Given the description of an element on the screen output the (x, y) to click on. 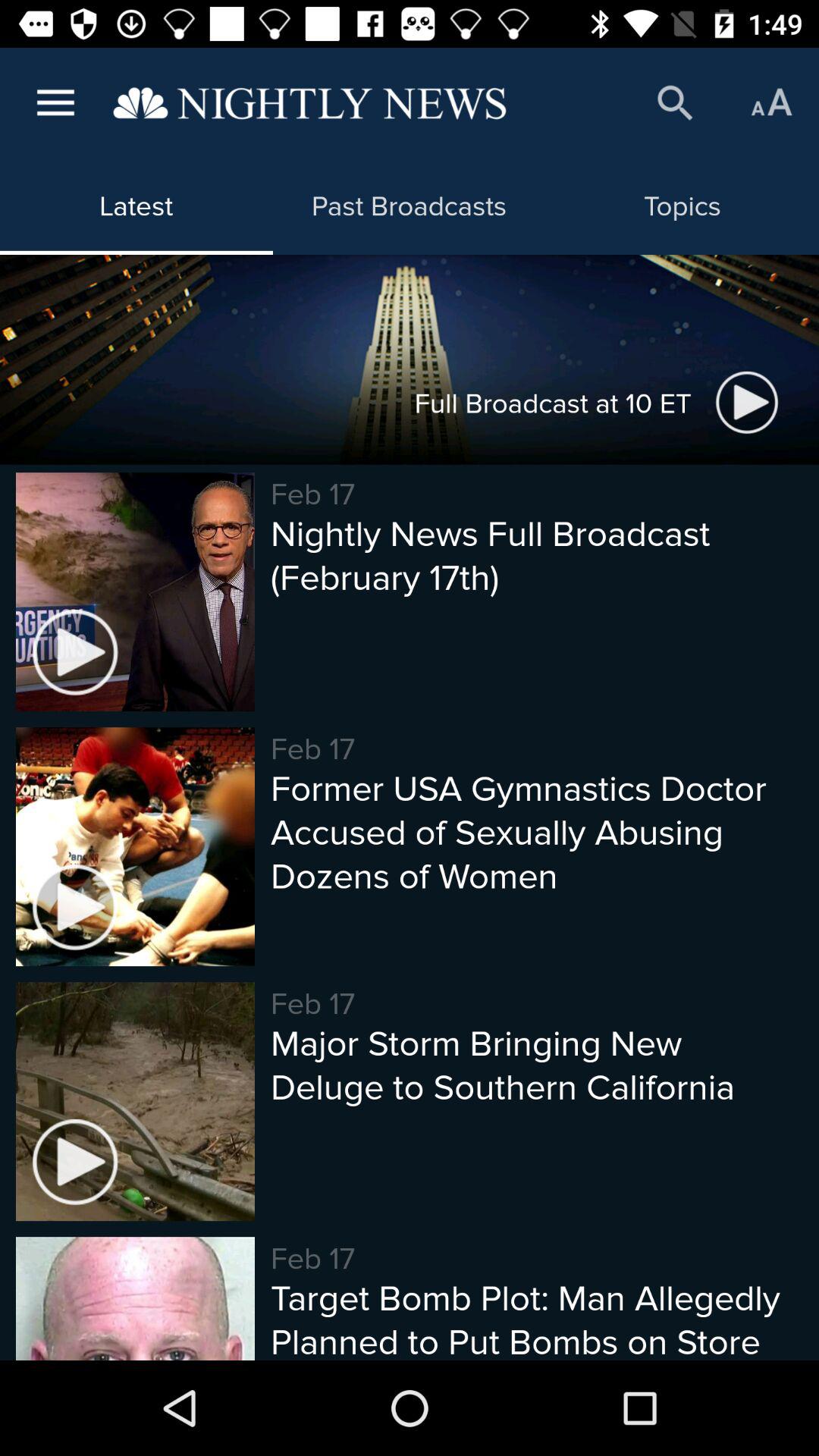
click the item above the latest icon (309, 103)
